Given the description of an element on the screen output the (x, y) to click on. 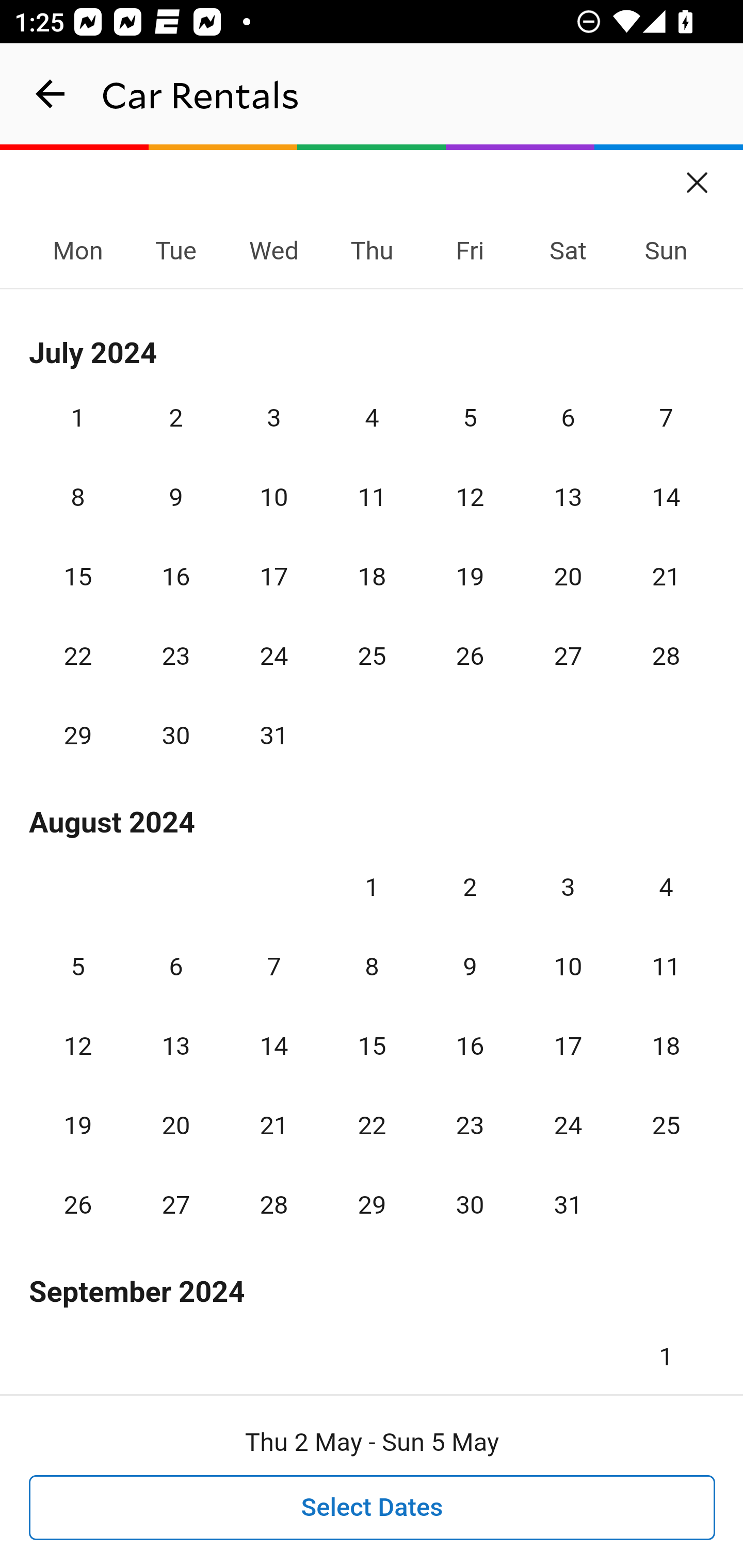
navigation_button (50, 93)
Close (697, 176)
1 July 2024 (77, 417)
2 July 2024 (175, 417)
3 July 2024 (273, 417)
4 July 2024 (371, 417)
5 July 2024 (470, 417)
6 July 2024 (567, 417)
7 July 2024 (665, 417)
8 July 2024 (77, 497)
9 July 2024 (175, 497)
10 July 2024 (273, 497)
11 July 2024 (371, 497)
12 July 2024 (470, 497)
13 July 2024 (567, 497)
14 July 2024 (665, 497)
15 July 2024 (77, 576)
16 July 2024 (175, 576)
17 July 2024 (273, 576)
18 July 2024 (371, 576)
19 July 2024 (470, 576)
20 July 2024 (567, 576)
21 July 2024 (665, 576)
22 July 2024 (77, 656)
23 July 2024 (175, 656)
24 July 2024 (273, 656)
25 July 2024 (371, 656)
26 July 2024 (470, 656)
27 July 2024 (567, 656)
28 July 2024 (665, 656)
29 July 2024 (77, 736)
30 July 2024 (175, 736)
31 July 2024 (273, 736)
1 August 2024 (371, 886)
2 August 2024 (470, 886)
3 August 2024 (567, 886)
4 August 2024 (665, 886)
5 August 2024 (77, 966)
6 August 2024 (175, 966)
7 August 2024 (273, 966)
8 August 2024 (371, 966)
9 August 2024 (470, 966)
10 August 2024 (567, 966)
11 August 2024 (665, 966)
12 August 2024 (77, 1046)
13 August 2024 (175, 1046)
14 August 2024 (273, 1046)
15 August 2024 (371, 1046)
16 August 2024 (470, 1046)
17 August 2024 (567, 1046)
18 August 2024 (665, 1046)
19 August 2024 (77, 1124)
20 August 2024 (175, 1124)
21 August 2024 (273, 1124)
22 August 2024 (371, 1124)
23 August 2024 (470, 1124)
24 August 2024 (567, 1124)
25 August 2024 (665, 1124)
26 August 2024 (77, 1204)
27 August 2024 (175, 1204)
28 August 2024 (273, 1204)
29 August 2024 (371, 1204)
30 August 2024 (470, 1204)
31 August 2024 (567, 1204)
1 September 2024 (665, 1343)
Select Dates (372, 1508)
15 September 2024 (665, 1515)
